Given the description of an element on the screen output the (x, y) to click on. 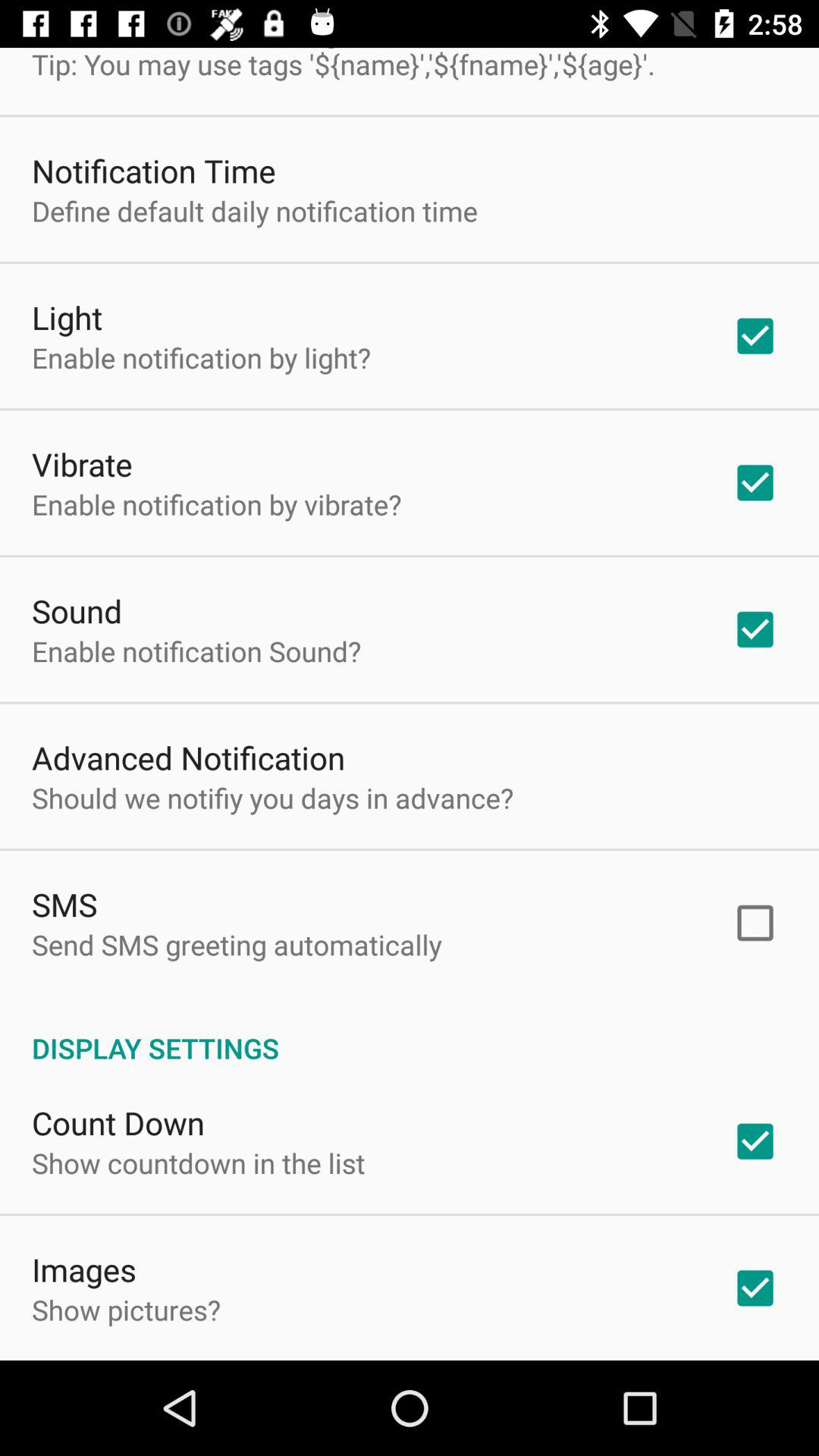
swipe until the define default daily app (254, 210)
